Given the description of an element on the screen output the (x, y) to click on. 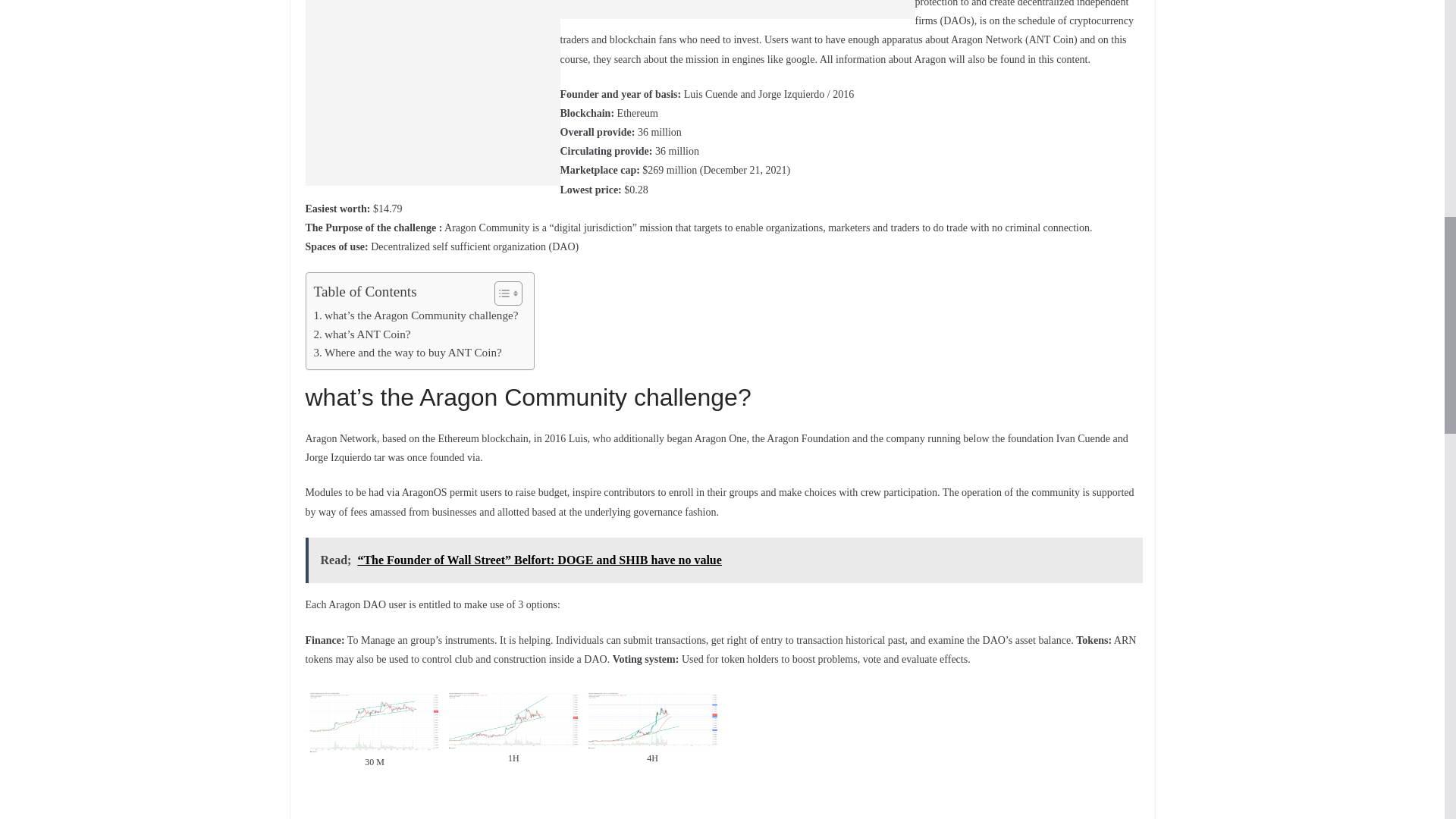
Advertisement (431, 92)
Where and the way to buy ANT Coin? (408, 352)
Advertisement (736, 9)
Where and the way to buy ANT Coin? (408, 352)
